Given the description of an element on the screen output the (x, y) to click on. 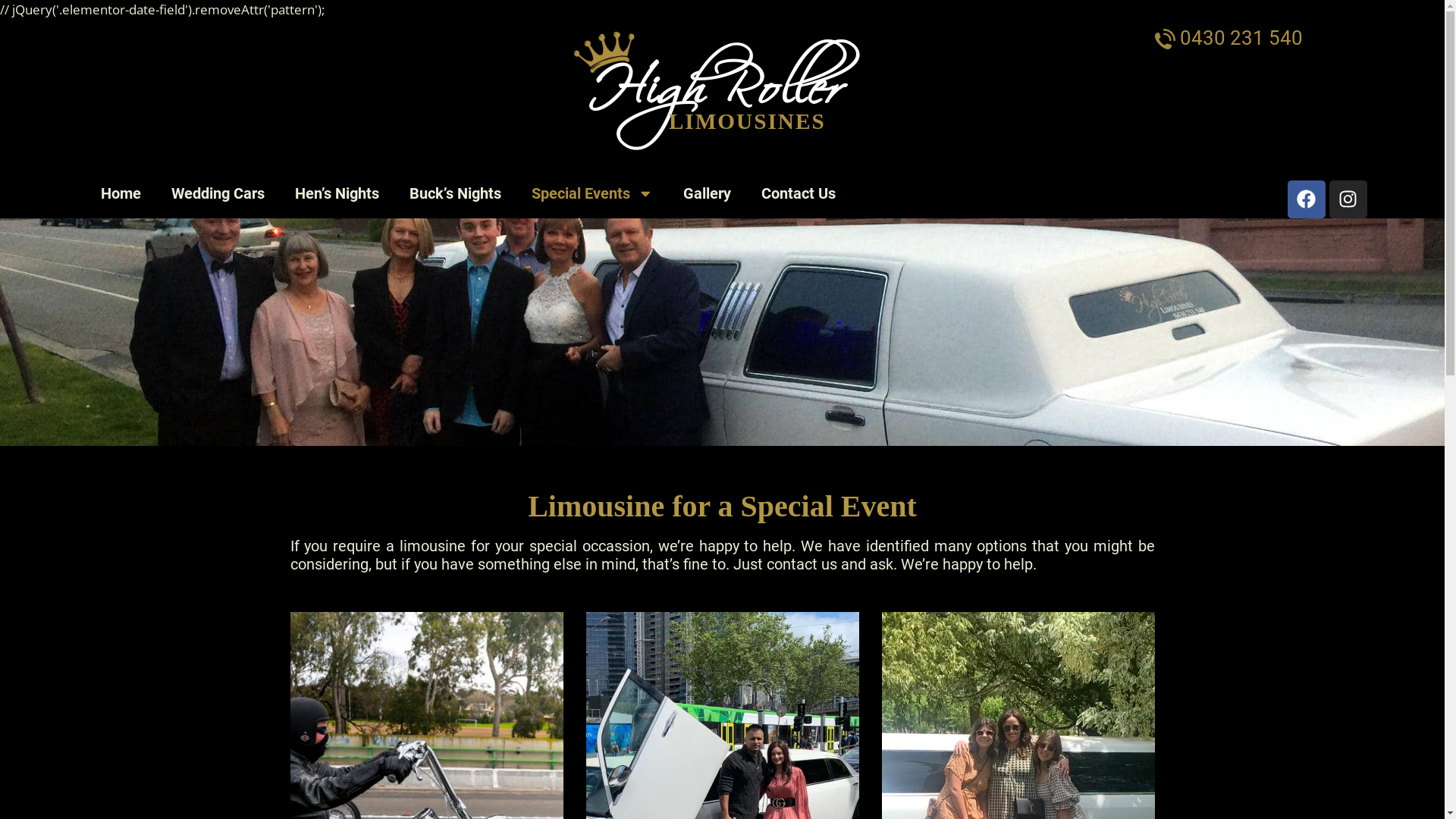
Home Element type: text (119, 192)
Gallery Element type: text (707, 192)
High Roller
LIMOUSINES Element type: text (715, 123)
 0430 231 540 Element type: text (1228, 36)
Wedding Cars Element type: text (217, 192)
Special Events Element type: text (591, 192)
Contact Us Element type: text (798, 192)
